Given the description of an element on the screen output the (x, y) to click on. 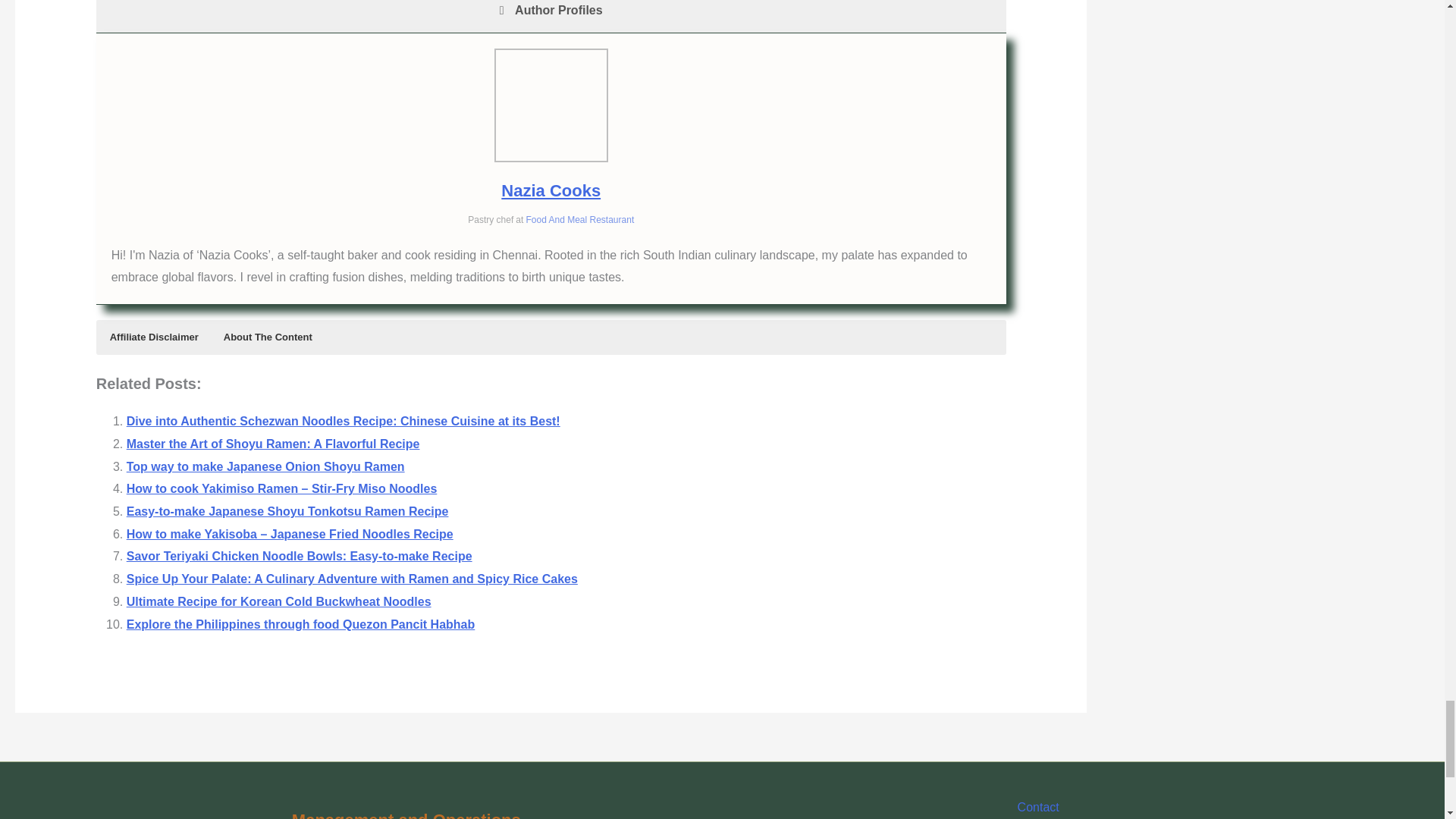
Master the Art of Shoyu Ramen: A Flavorful Recipe (273, 443)
